Given the description of an element on the screen output the (x, y) to click on. 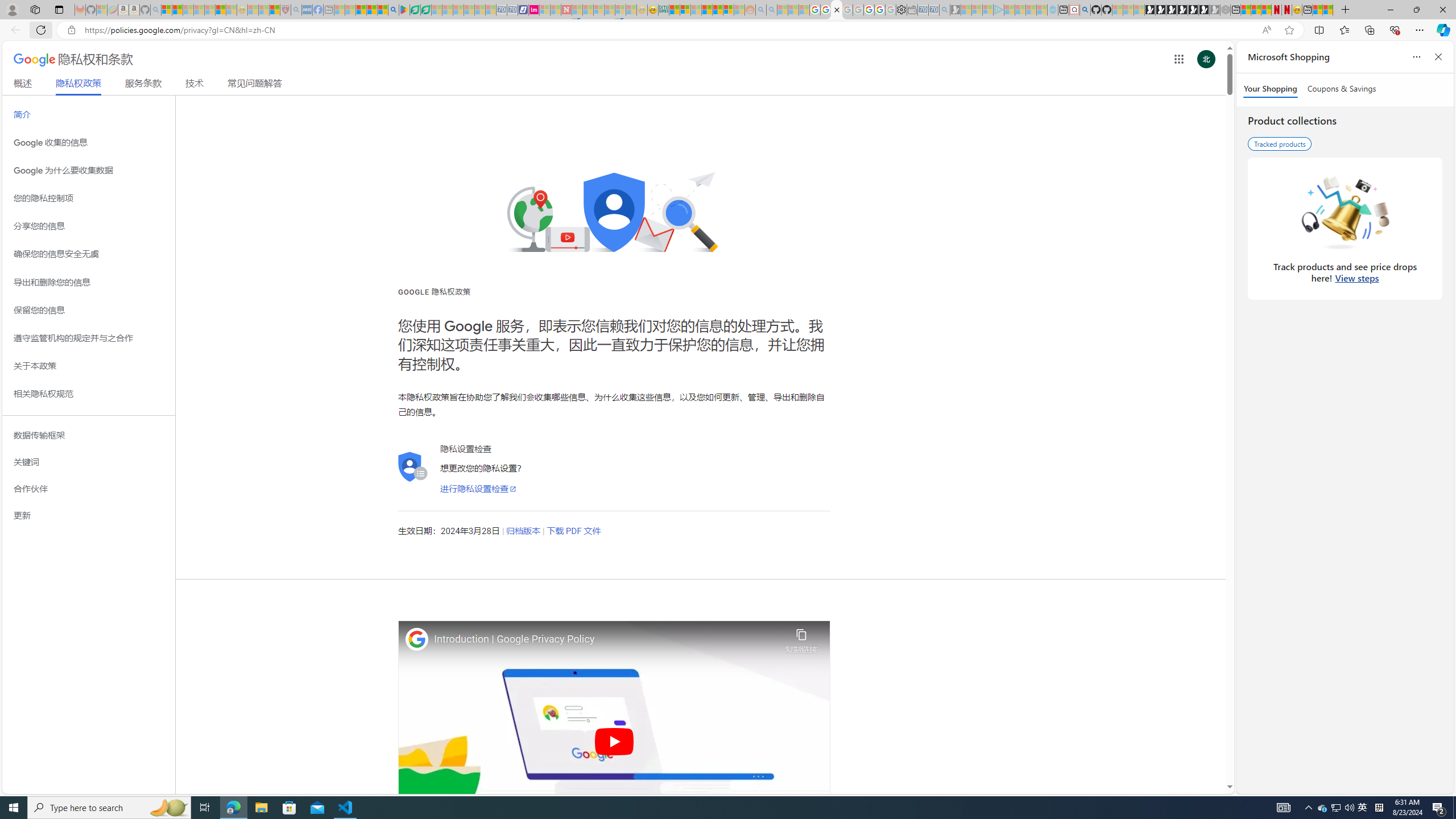
Wildlife - MSN (1317, 9)
